Given the description of an element on the screen output the (x, y) to click on. 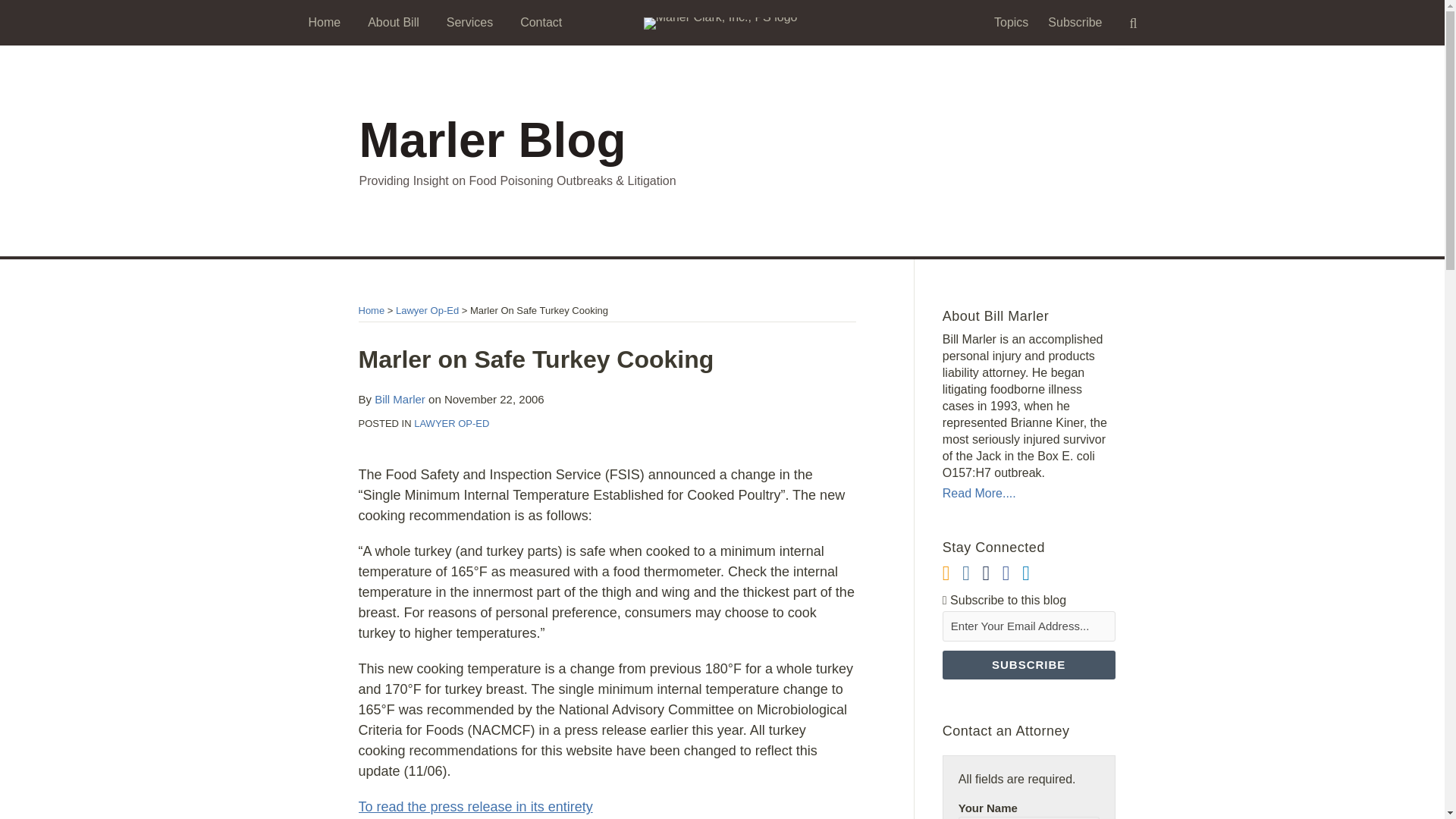
Home (371, 310)
About Bill (393, 22)
Topics (1010, 22)
Read More.... (1028, 493)
Contact (540, 22)
Home (323, 22)
Marler Blog (492, 140)
Lawyer Op-Ed (427, 310)
Bill Marler (399, 399)
Services (469, 22)
LAWYER OP-ED (451, 423)
To read the press release in its entirety (475, 806)
Subscribe (1075, 22)
Subscribe (1028, 664)
